Given the description of an element on the screen output the (x, y) to click on. 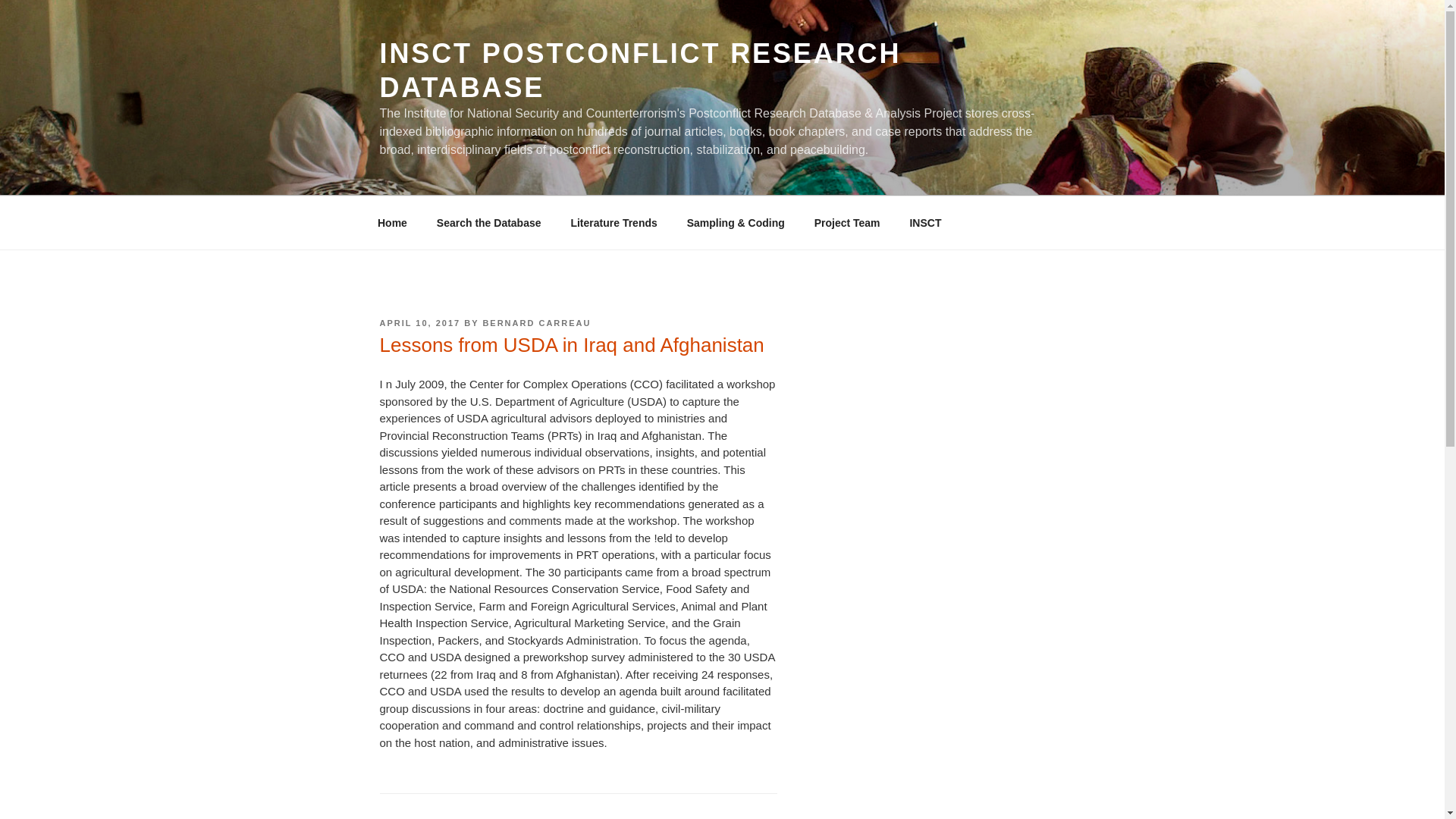
INSCT POSTCONFLICT RESEARCH DATABASE (639, 70)
Project Team (846, 222)
INSCT (925, 222)
BERNARD CARREAU (536, 322)
Home (392, 222)
Literature Trends (613, 222)
Search the Database (488, 222)
APRIL 10, 2017 (419, 322)
